Given the description of an element on the screen output the (x, y) to click on. 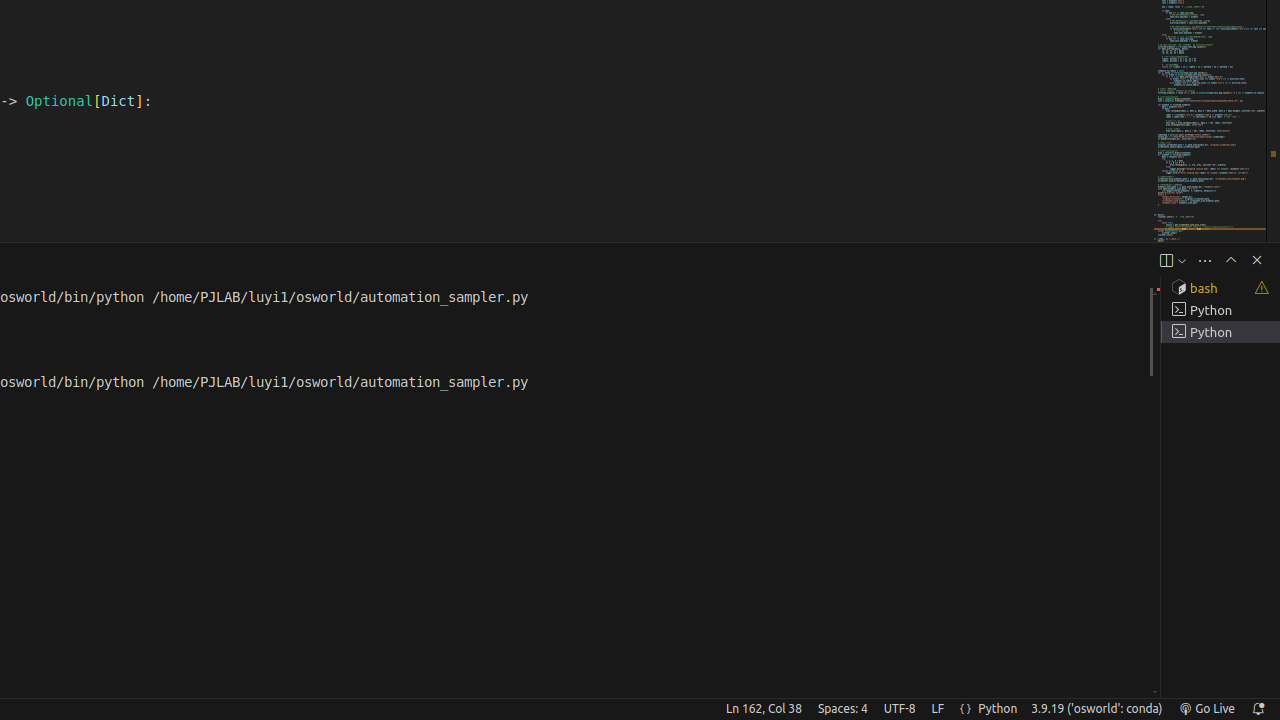
Editor Language Status: Auto Import Completions: false, next: Type Checking: off Element type: push-button (965, 709)
Ln 162, Col 38 Element type: push-button (764, 709)
